Given the description of an element on the screen output the (x, y) to click on. 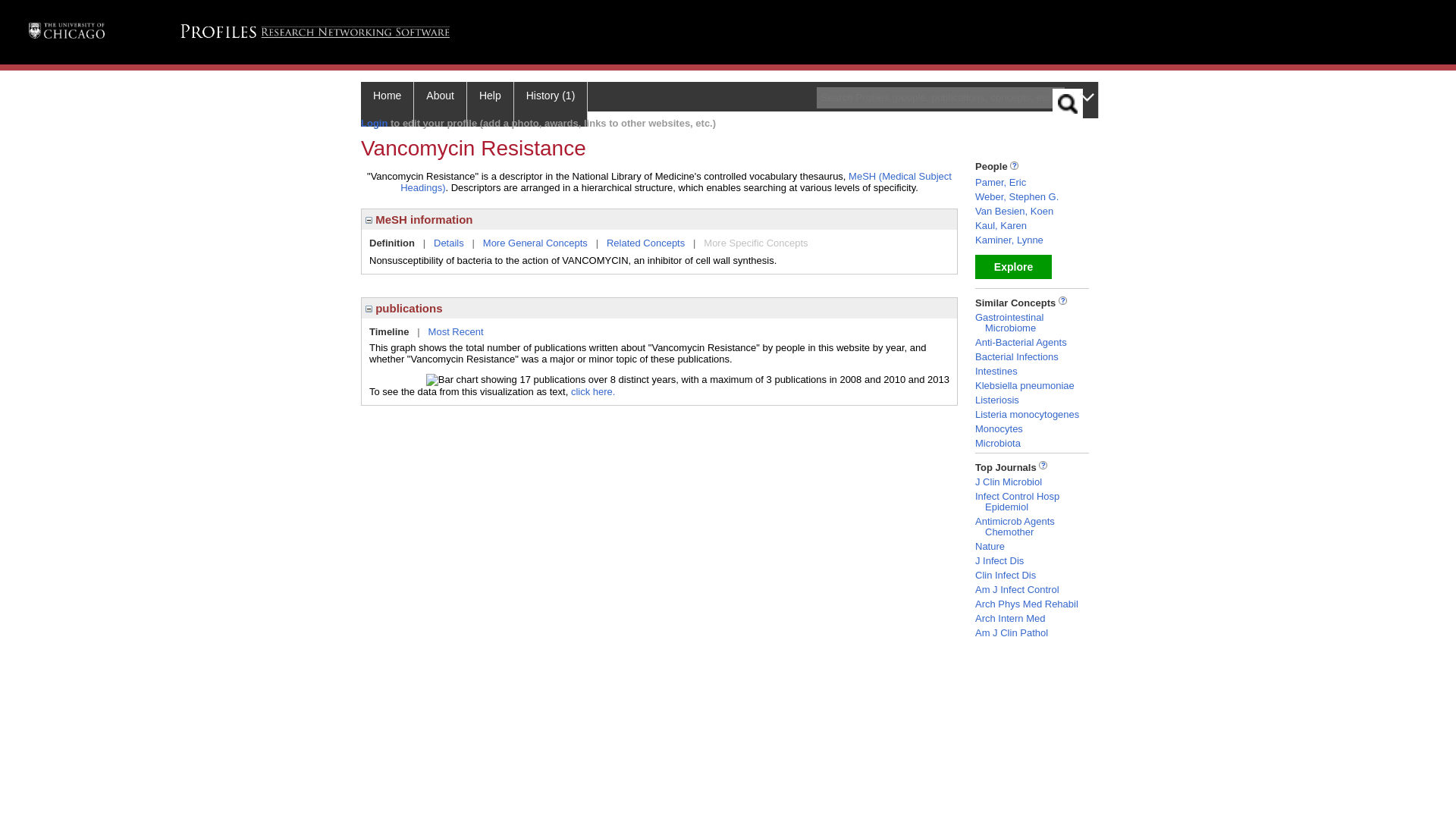
More General Concepts (535, 242)
Home (387, 103)
Details (448, 242)
About (440, 103)
More Specific Concepts (755, 242)
Login (374, 122)
Related Concepts (645, 242)
Help (490, 103)
Definition (391, 242)
